Given the description of an element on the screen output the (x, y) to click on. 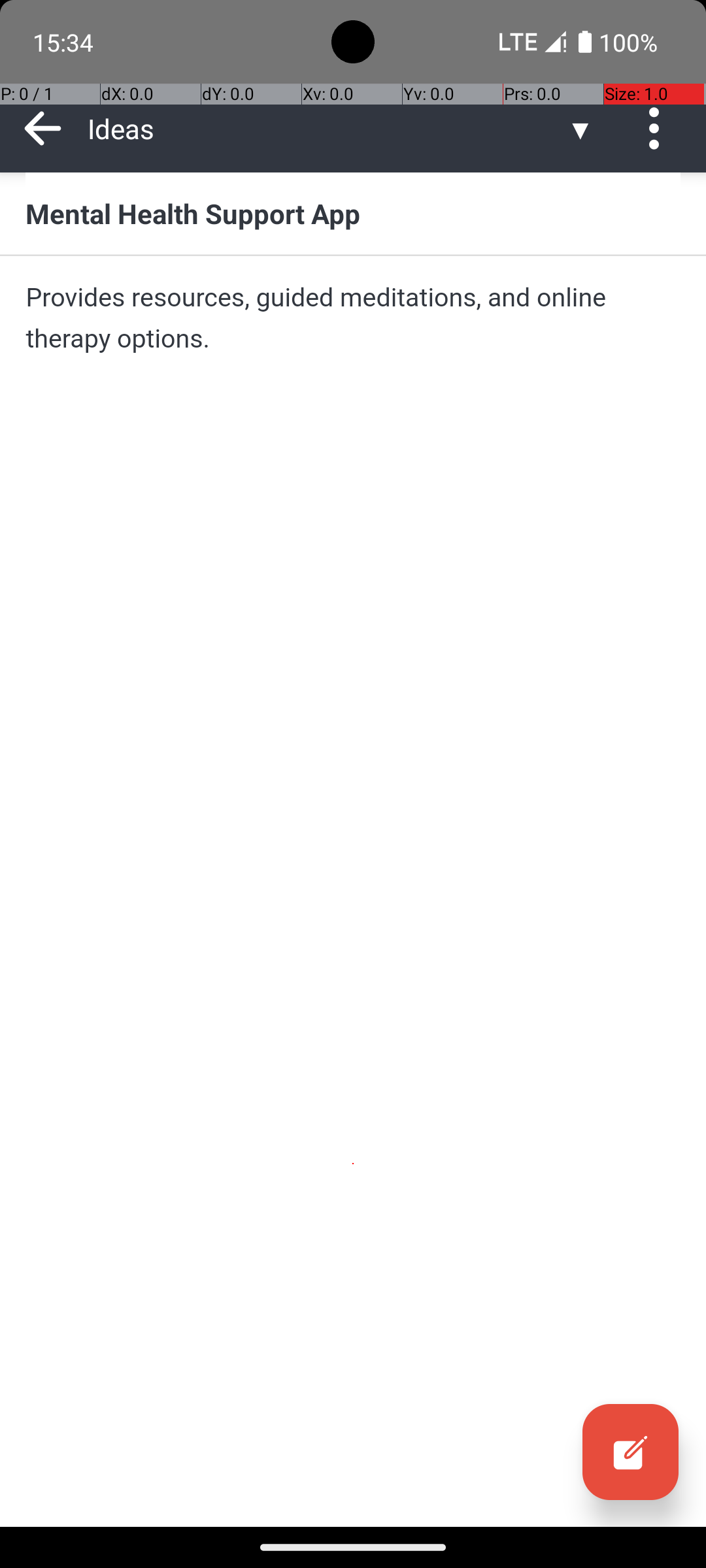
Mental Health Support App Element type: android.widget.EditText (352, 213)
Provides resources, guided meditations, and online therapy options. Element type: android.widget.TextView (352, 317)
